Given the description of an element on the screen output the (x, y) to click on. 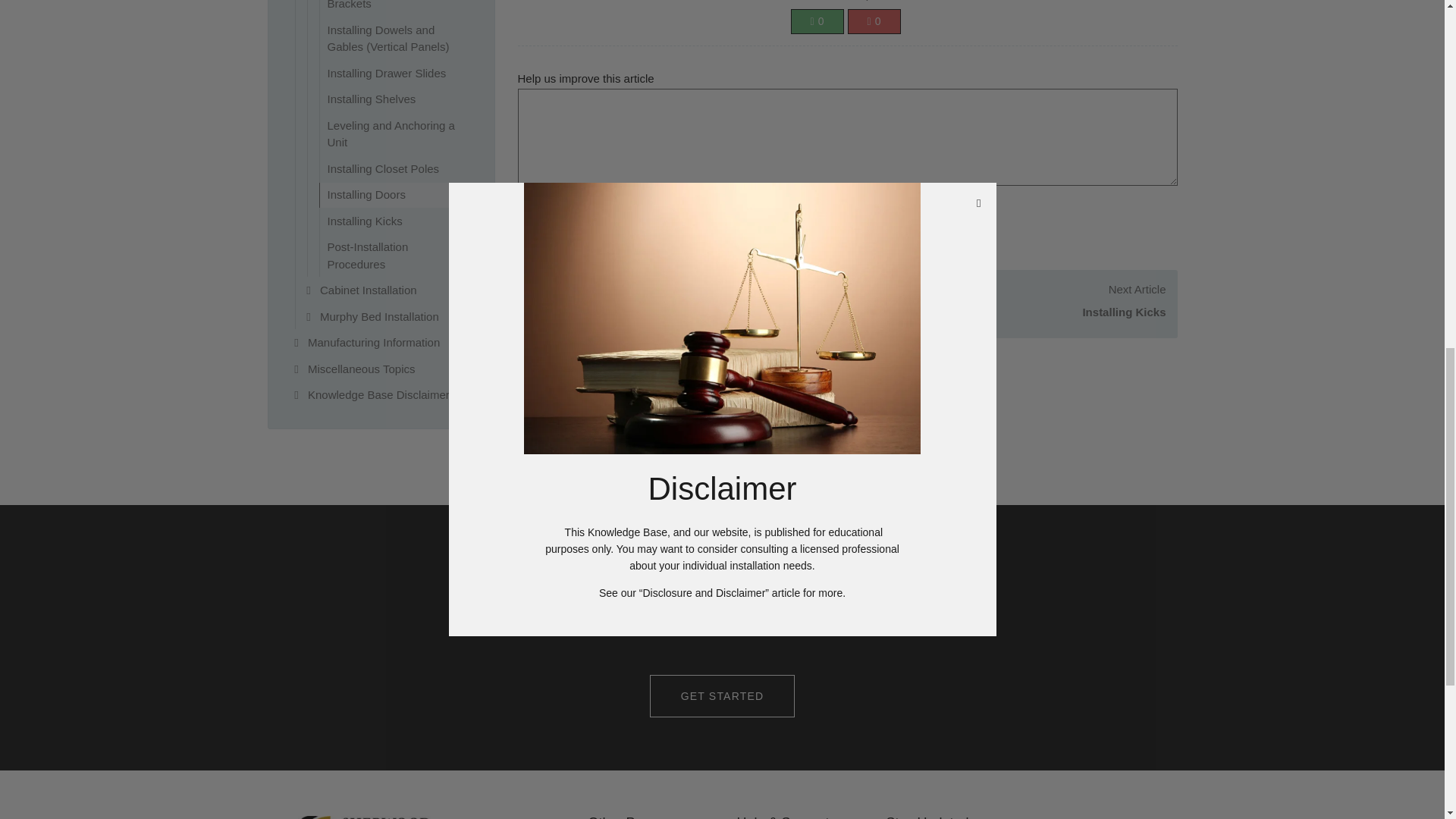
Installing Closet Poles (678, 312)
0 (816, 21)
Installing Kicks (1016, 312)
0 (874, 21)
SUBMIT FEEDBACK (598, 224)
